Given the description of an element on the screen output the (x, y) to click on. 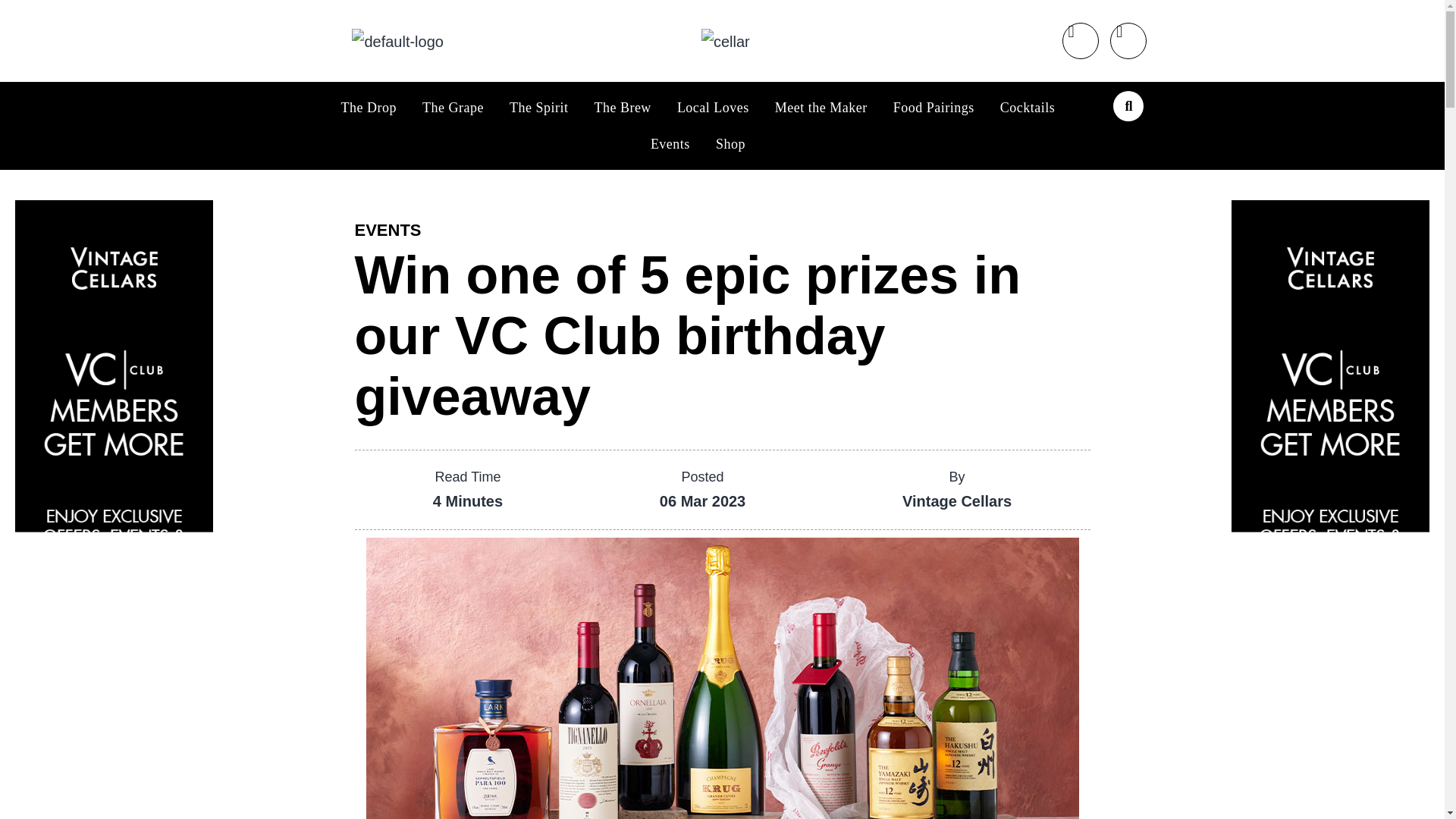
Food Pairings (933, 107)
The Spirit (538, 107)
The Brew (621, 107)
The Drop (368, 107)
The Grape (452, 107)
Events (670, 144)
Meet the Maker (820, 107)
Local Loves (712, 107)
Shop (730, 144)
Cocktails (1027, 107)
